Given the description of an element on the screen output the (x, y) to click on. 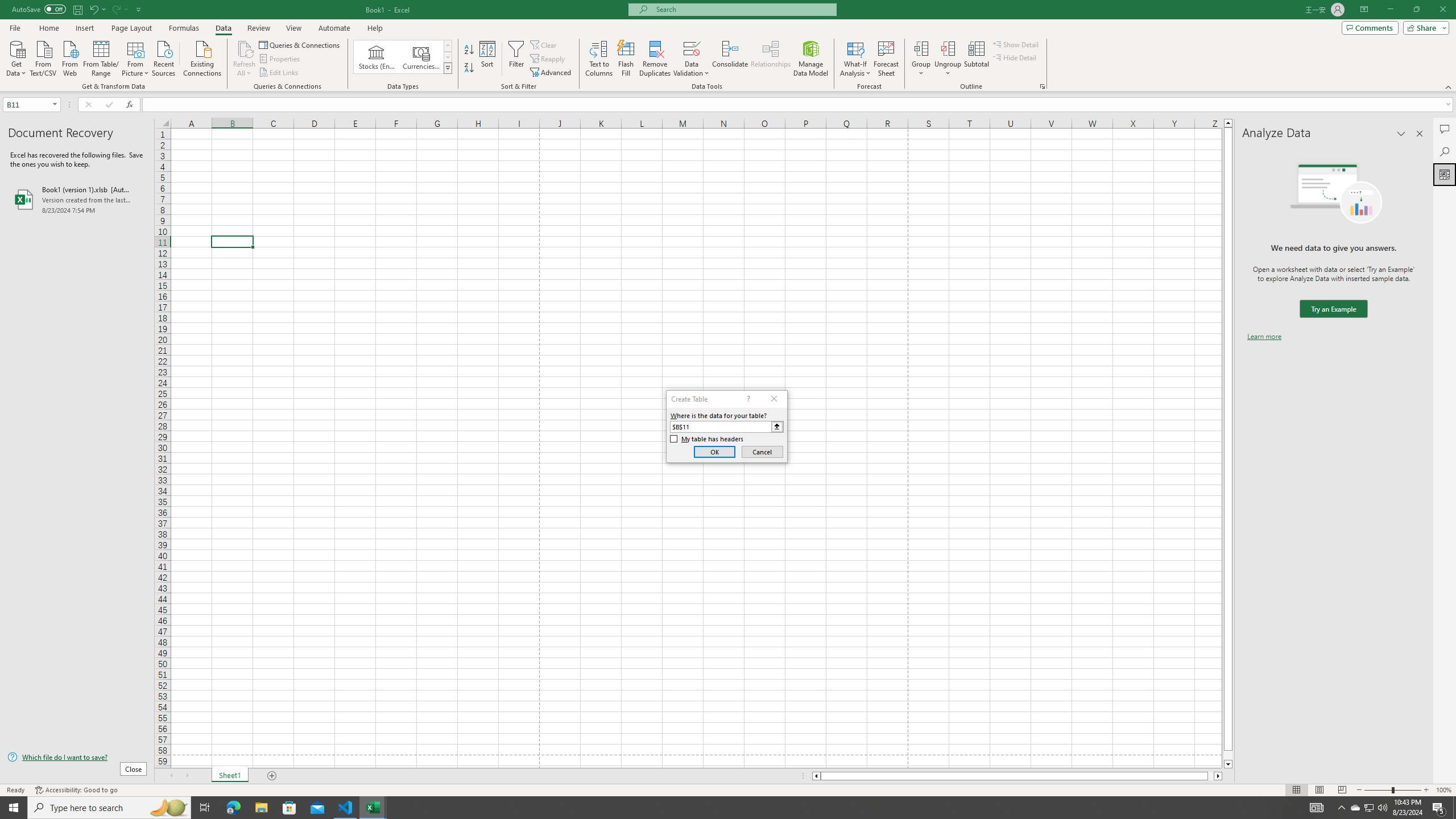
Filter (515, 58)
